Given the description of an element on the screen output the (x, y) to click on. 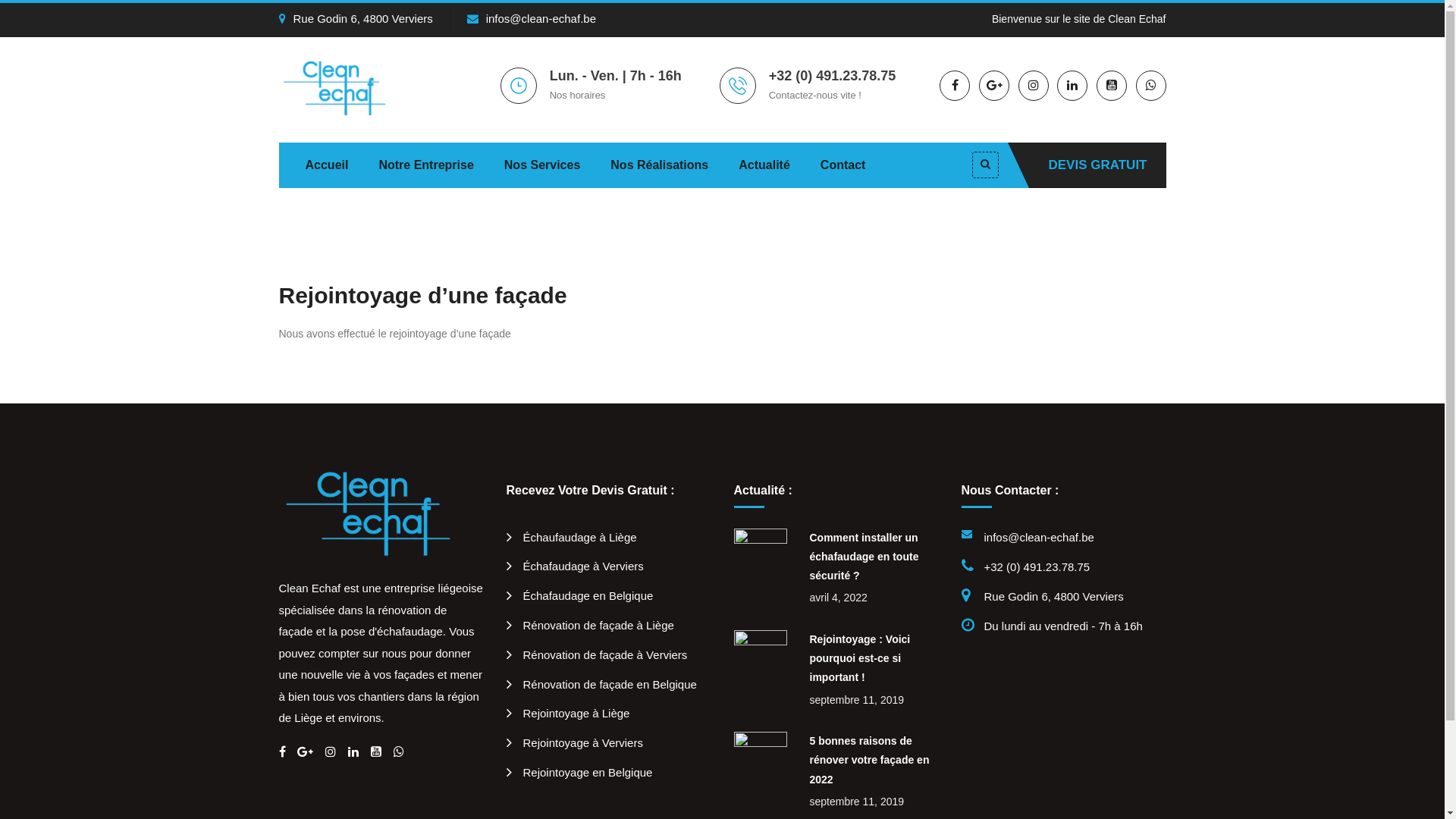
DEVIS GRATUIT Element type: text (1097, 165)
Rue Godin 6, 4800 Verviers Element type: text (356, 18)
infos@clean-echaf.be Element type: text (531, 18)
Nos Services Element type: text (542, 164)
Notre Entreprise Element type: text (425, 164)
Contact Element type: text (843, 164)
Clean Echaf Element type: hover (381, 512)
Rejointoyage : Voici pourquoi est-ce si important ! Element type: text (859, 658)
Rejointoyage en Belgique Element type: text (579, 771)
Clean Echaf Element type: hover (342, 86)
Accueil Element type: text (326, 164)
